Given the description of an element on the screen output the (x, y) to click on. 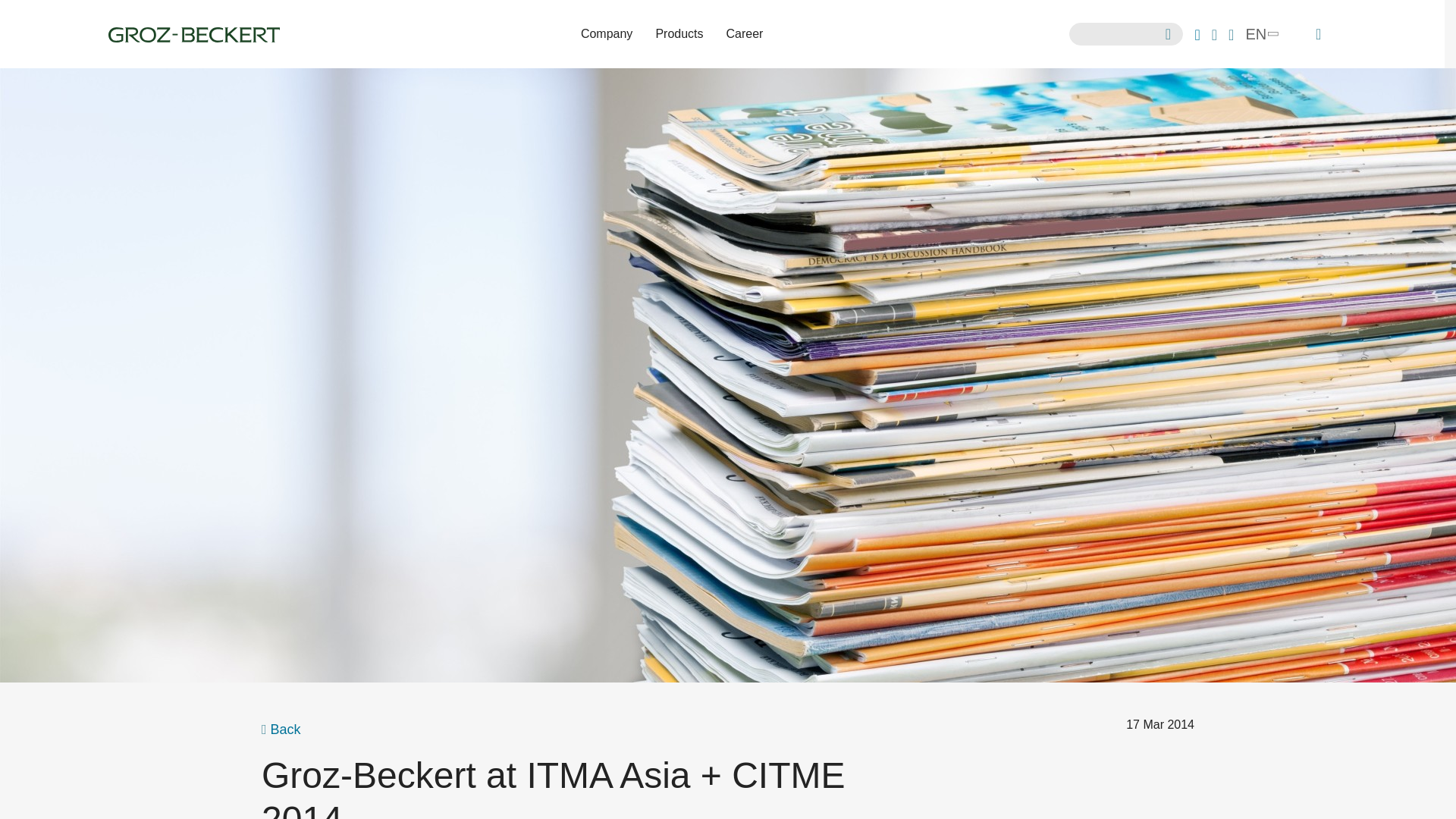
Company (606, 34)
Products (678, 34)
Career (744, 34)
EN (1259, 33)
